Given the description of an element on the screen output the (x, y) to click on. 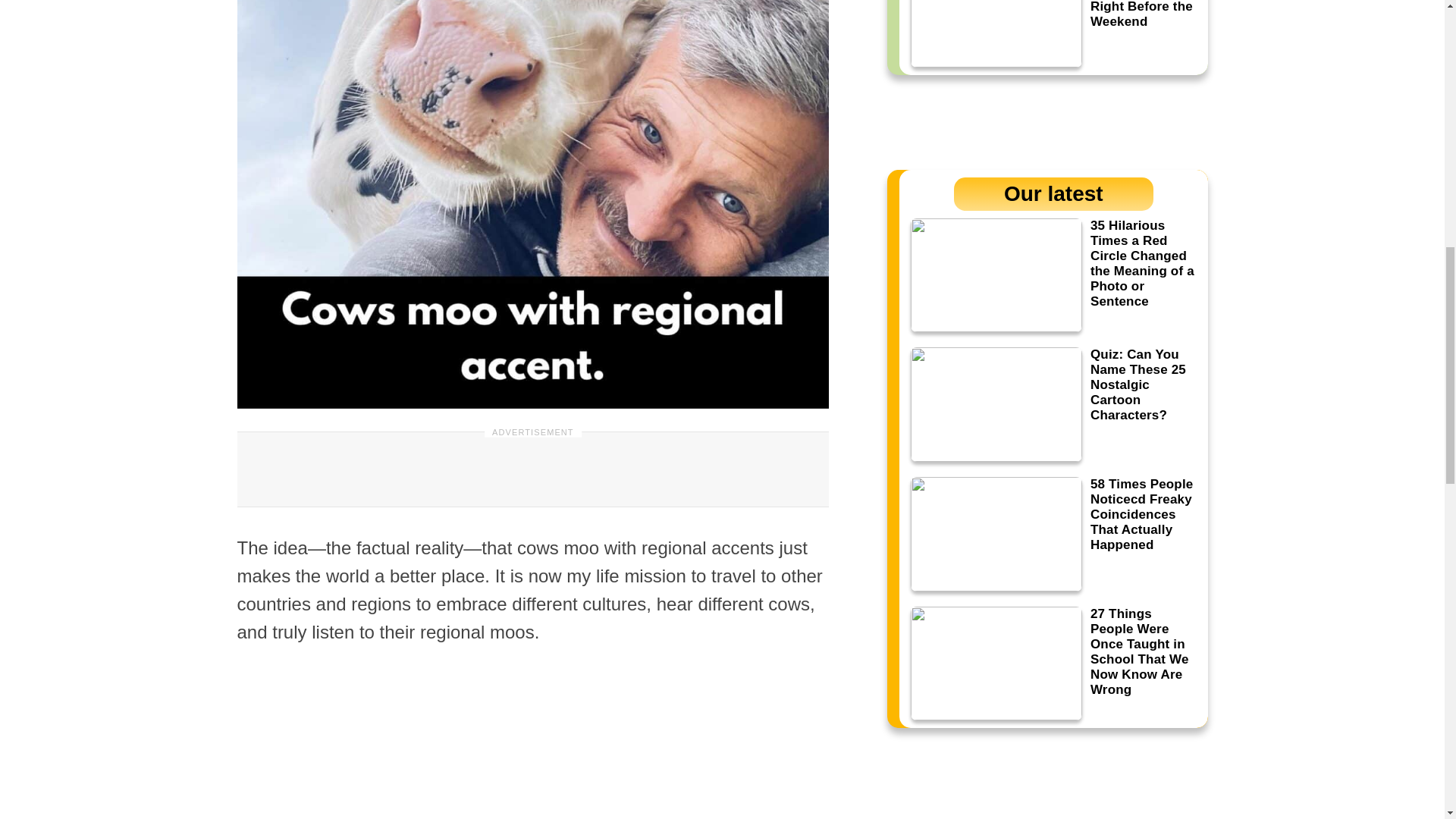
Quiz: Can You Name These 25 Nostalgic Cartoon Characters? (1053, 404)
